Given the description of an element on the screen output the (x, y) to click on. 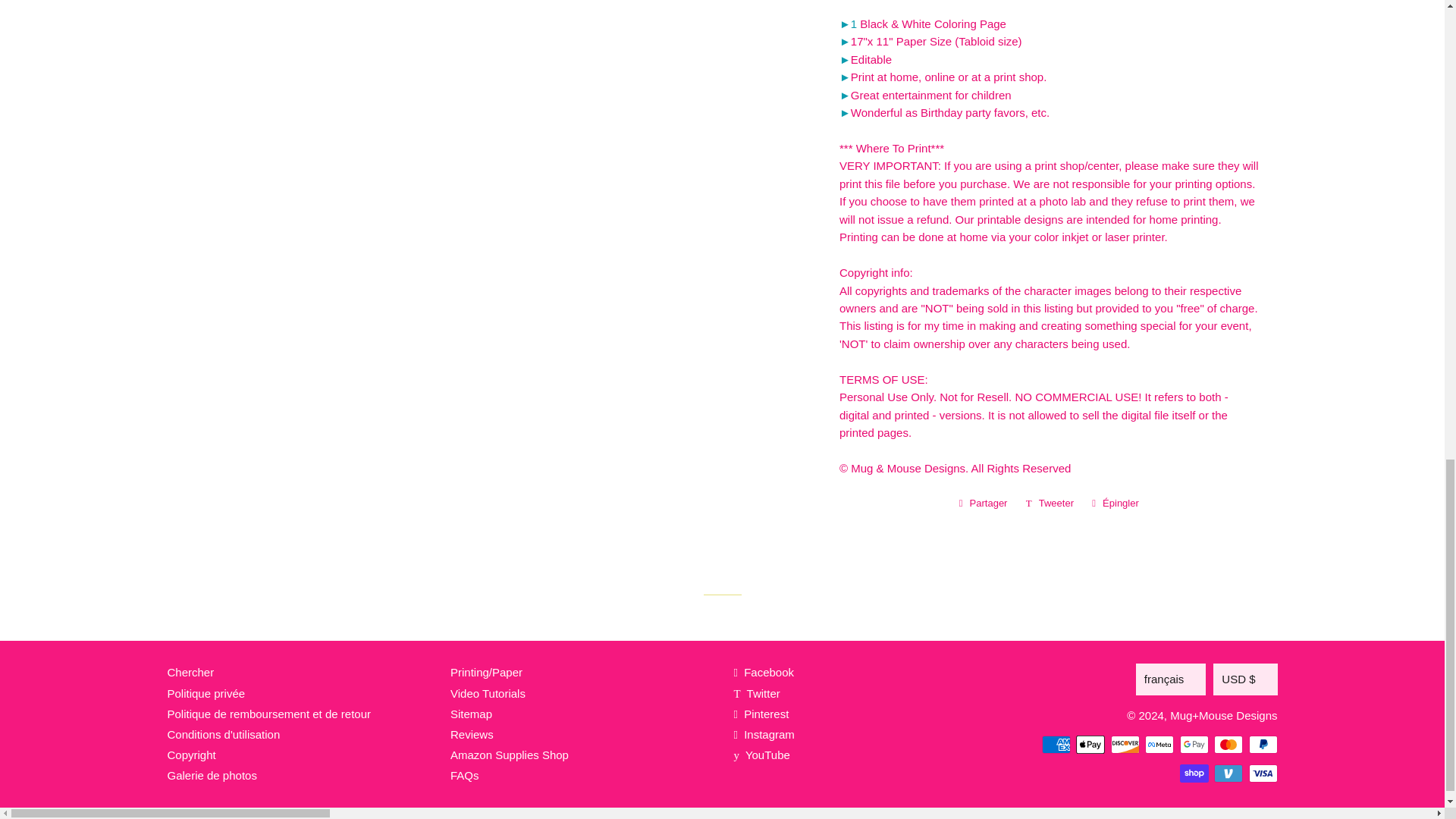
Venmo (1228, 773)
PayPal (1261, 744)
Mastercard (1228, 744)
Partager sur Facebook (983, 503)
Shop Pay (1193, 773)
Meta Pay (1158, 744)
American Express (1056, 744)
Apple Pay (1090, 744)
Tweeter sur Twitter (1049, 503)
Google Pay (1193, 744)
